Given the description of an element on the screen output the (x, y) to click on. 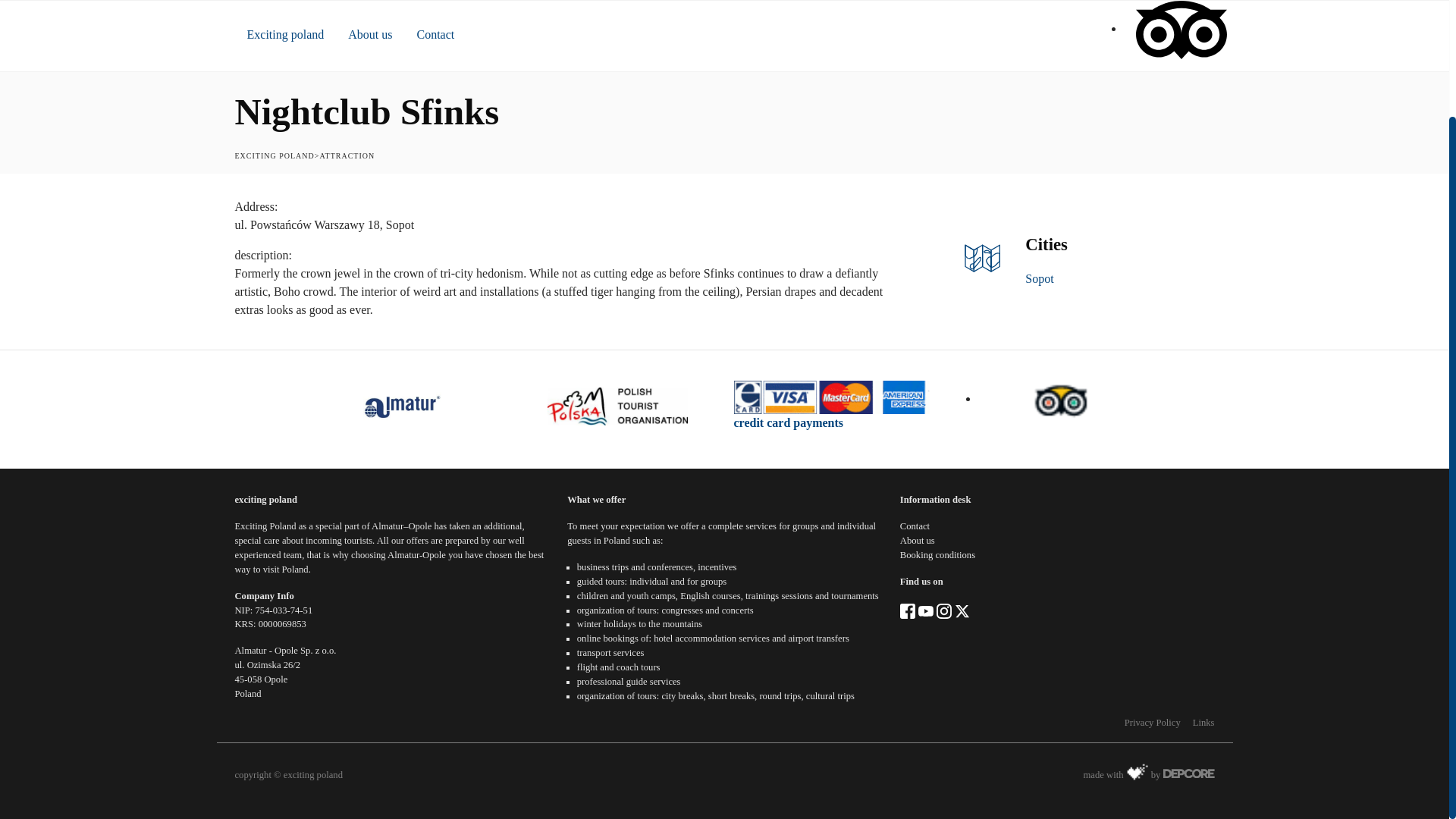
credit card payments (788, 422)
Go to Attraction. (346, 155)
Contact (435, 35)
Sopot (1038, 278)
Exciting poland (285, 35)
Find us on Twitter (962, 609)
Find us on Instagram (944, 609)
Go to exciting poland. (274, 155)
Find us on Facebook (907, 609)
Booking conditions (937, 554)
